Given the description of an element on the screen output the (x, y) to click on. 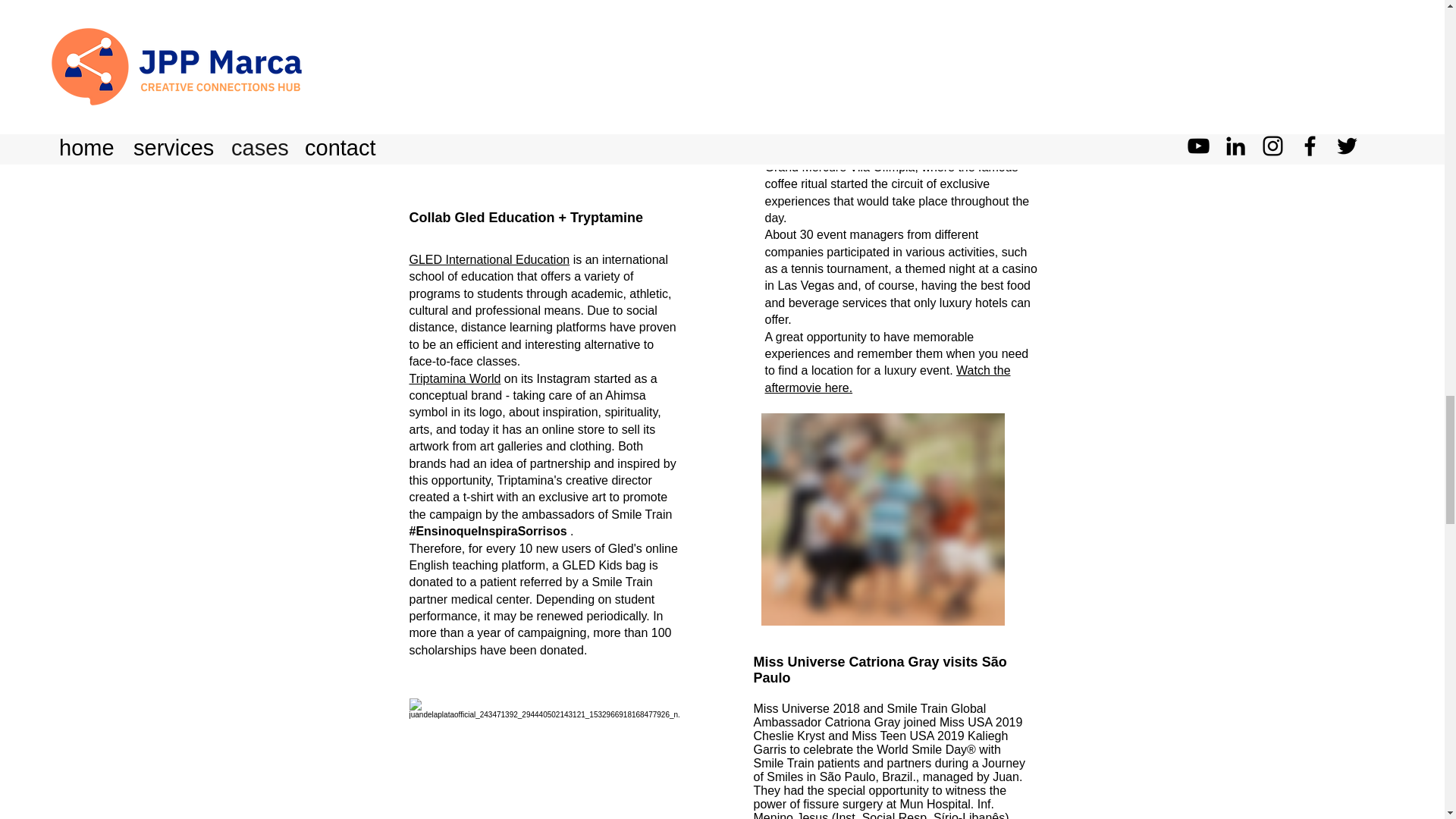
Watch the aftermovie here. (887, 378)
Triptamina World (454, 378)
GLED International Education (489, 259)
